Given the description of an element on the screen output the (x, y) to click on. 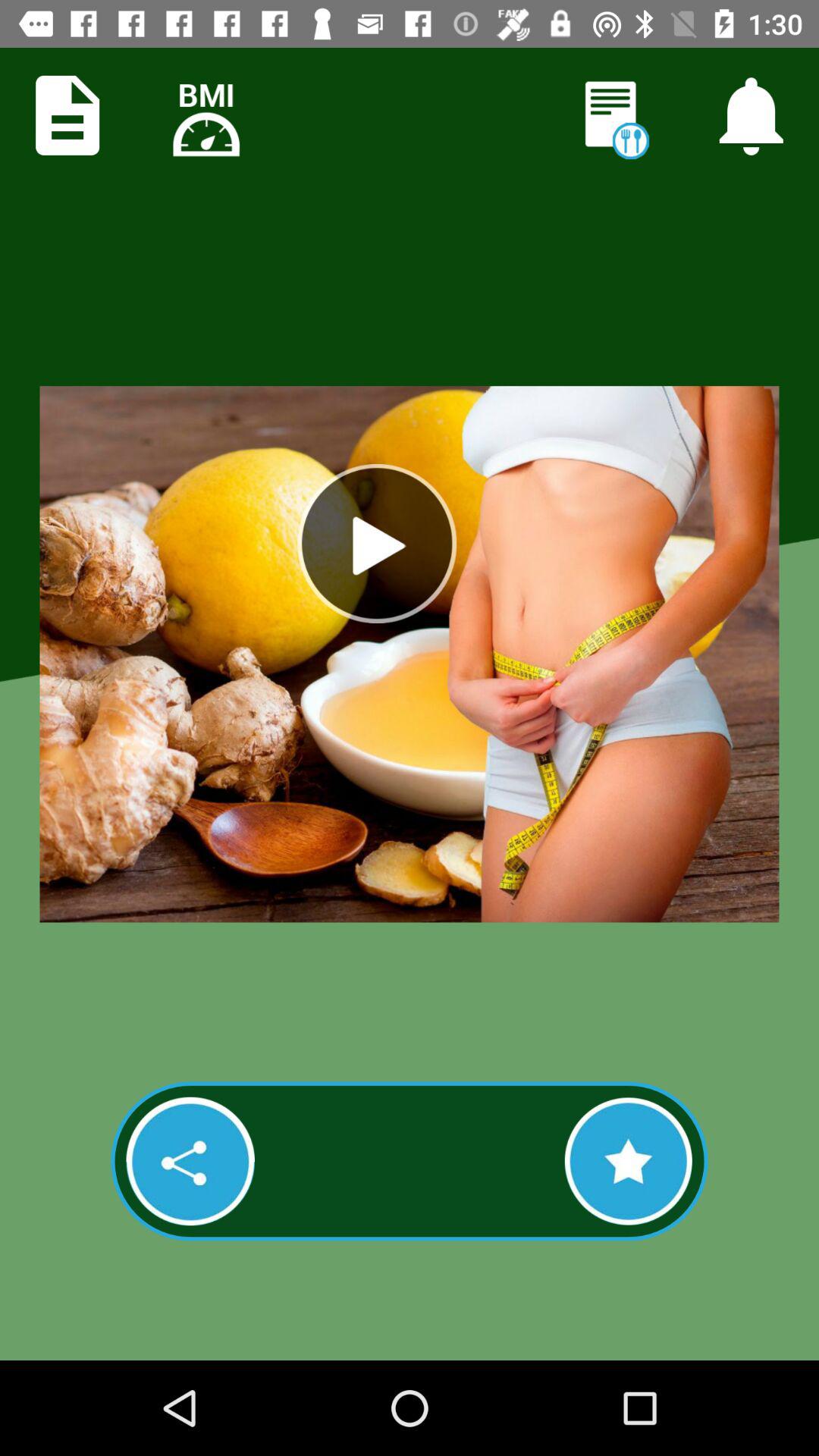
share (190, 1161)
